Given the description of an element on the screen output the (x, y) to click on. 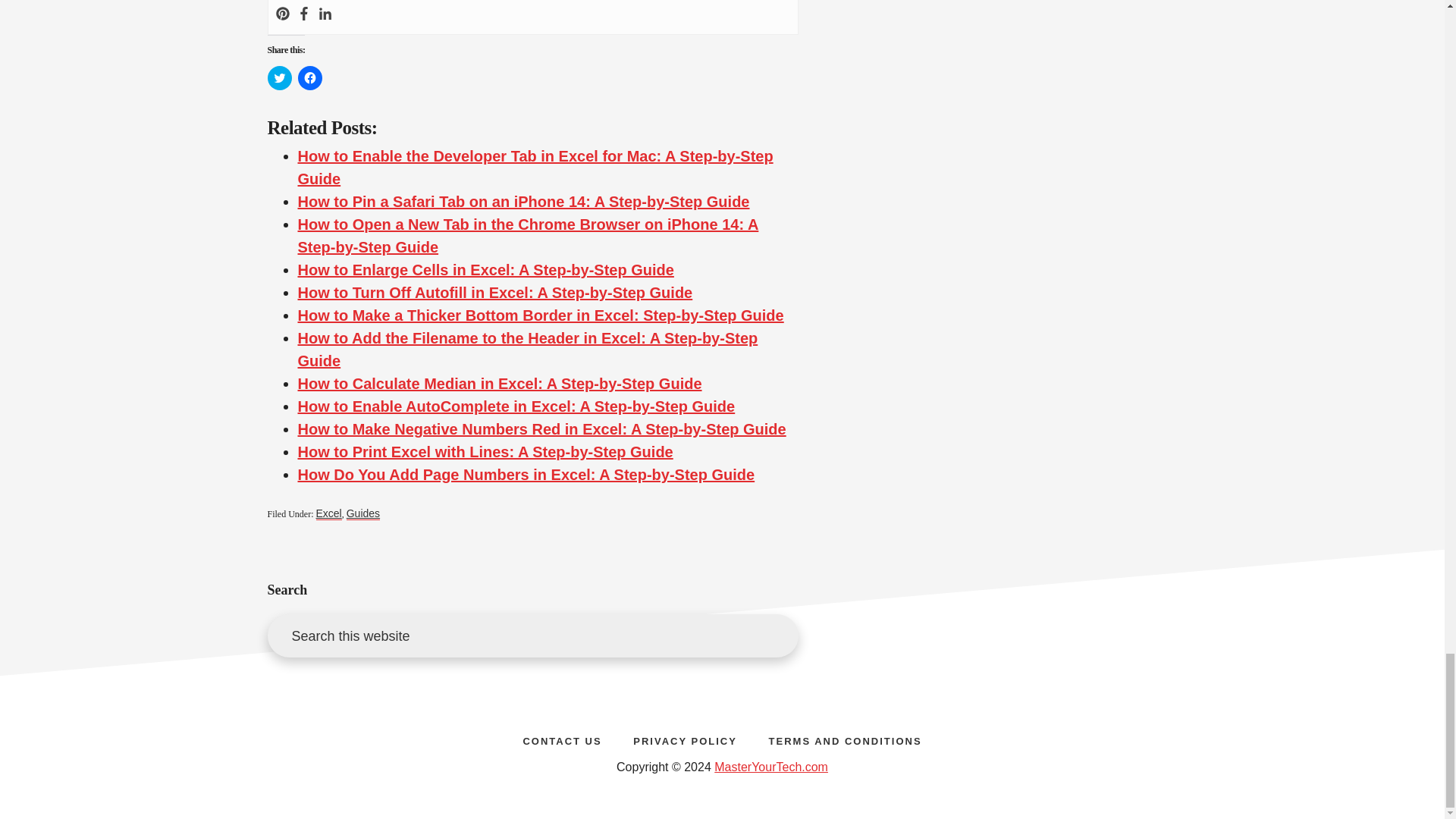
How to Enlarge Cells in Excel: A Step-by-Step Guide (484, 269)
How Do You Add Page Numbers in Excel: A Step-by-Step Guide (525, 474)
How to Turn Off Autofill in Excel: A Step-by-Step Guide (495, 292)
How to Calculate Median in Excel: A Step-by-Step Guide (499, 383)
How to Print Excel with Lines: A Step-by-Step Guide (484, 451)
Excel (327, 513)
How to Enable AutoComplete in Excel: A Step-by-Step Guide (516, 406)
Guides (363, 513)
